Given the description of an element on the screen output the (x, y) to click on. 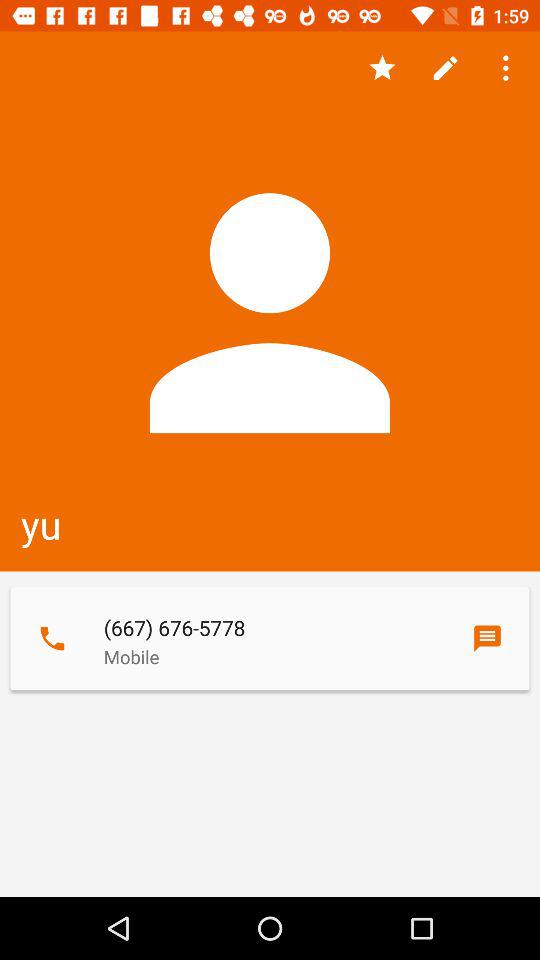
turn on icon above yu (381, 67)
